Given the description of an element on the screen output the (x, y) to click on. 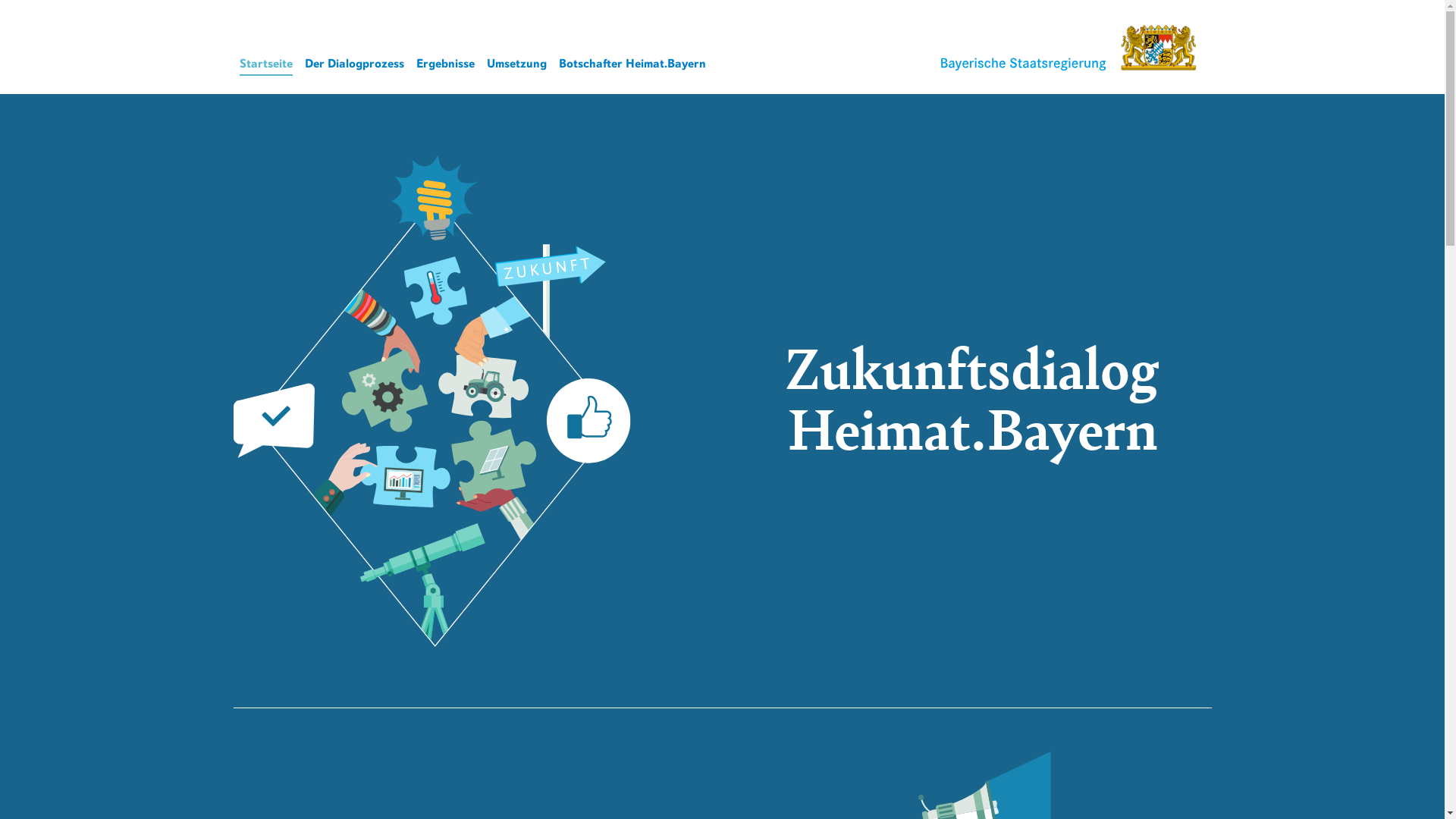
Ergebnisse Element type: text (444, 63)
Bayerisches Staatsministerium Element type: hover (1066, 47)
Der Dialogprozess Element type: text (354, 63)
Botschafter Heimat.Bayern Element type: text (631, 63)
Startseite Element type: text (265, 64)
Umsetzung Element type: text (516, 63)
